Given the description of an element on the screen output the (x, y) to click on. 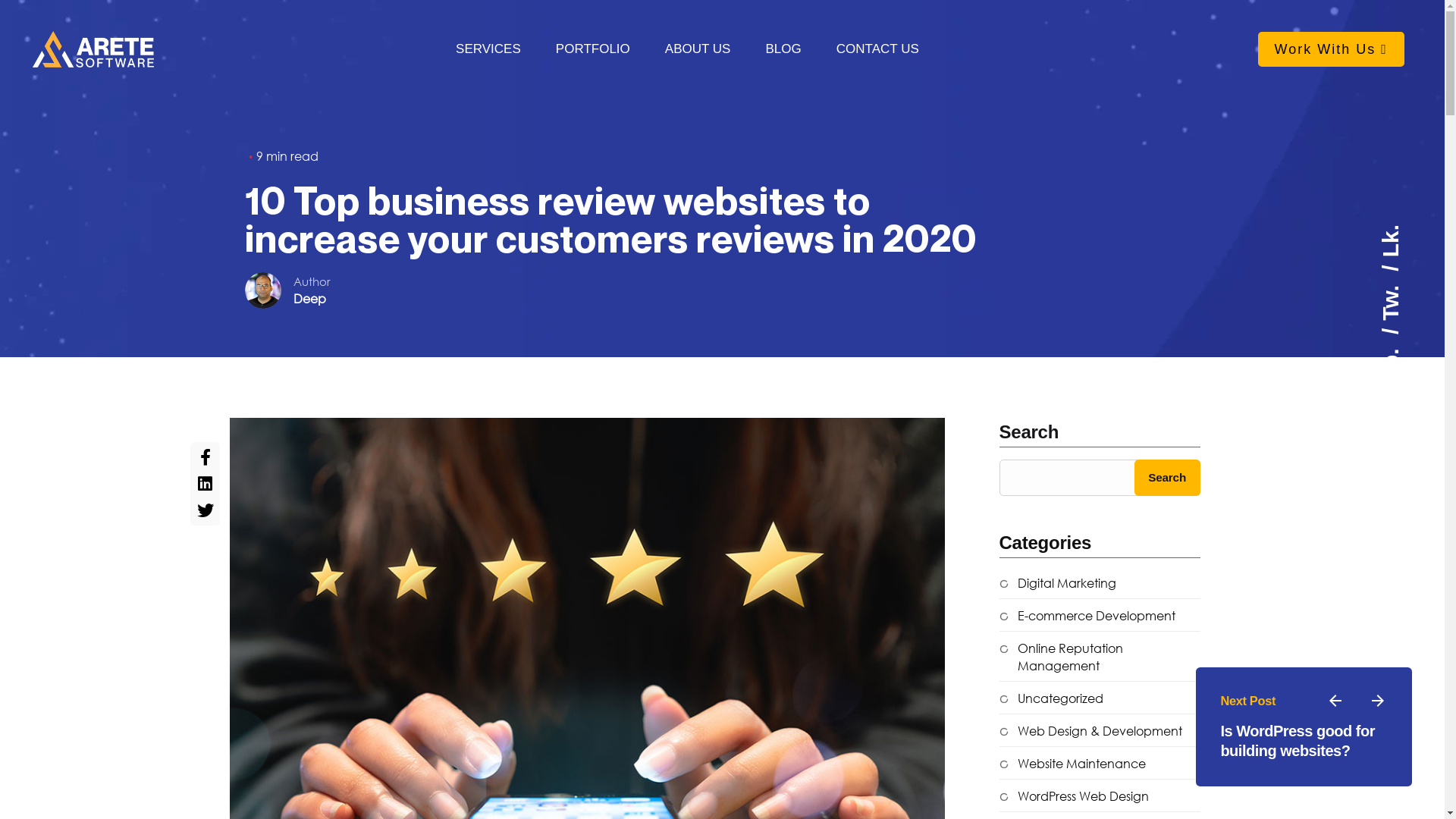
CONTACT US Element type: text (877, 48)
WordPress Web Design Element type: text (1073, 796)
Is WordPress good for building websites? Element type: text (1297, 740)
SERVICES Element type: text (488, 48)
Tw. Element type: text (1405, 276)
Web Design & Development Element type: text (1090, 731)
Website Maintenance Element type: text (1072, 763)
Digital Marketing Element type: text (1057, 583)
ABOUT US Element type: text (697, 48)
Lk. Element type: text (1393, 236)
BLOG Element type: text (782, 48)
Online Reputation Management Element type: text (1099, 657)
Search Element type: text (1167, 477)
Uncategorized Element type: text (1051, 698)
Fb. Element type: text (1404, 340)
PORTFOLIO Element type: text (592, 48)
E-commerce Development Element type: text (1087, 615)
